Given the description of an element on the screen output the (x, y) to click on. 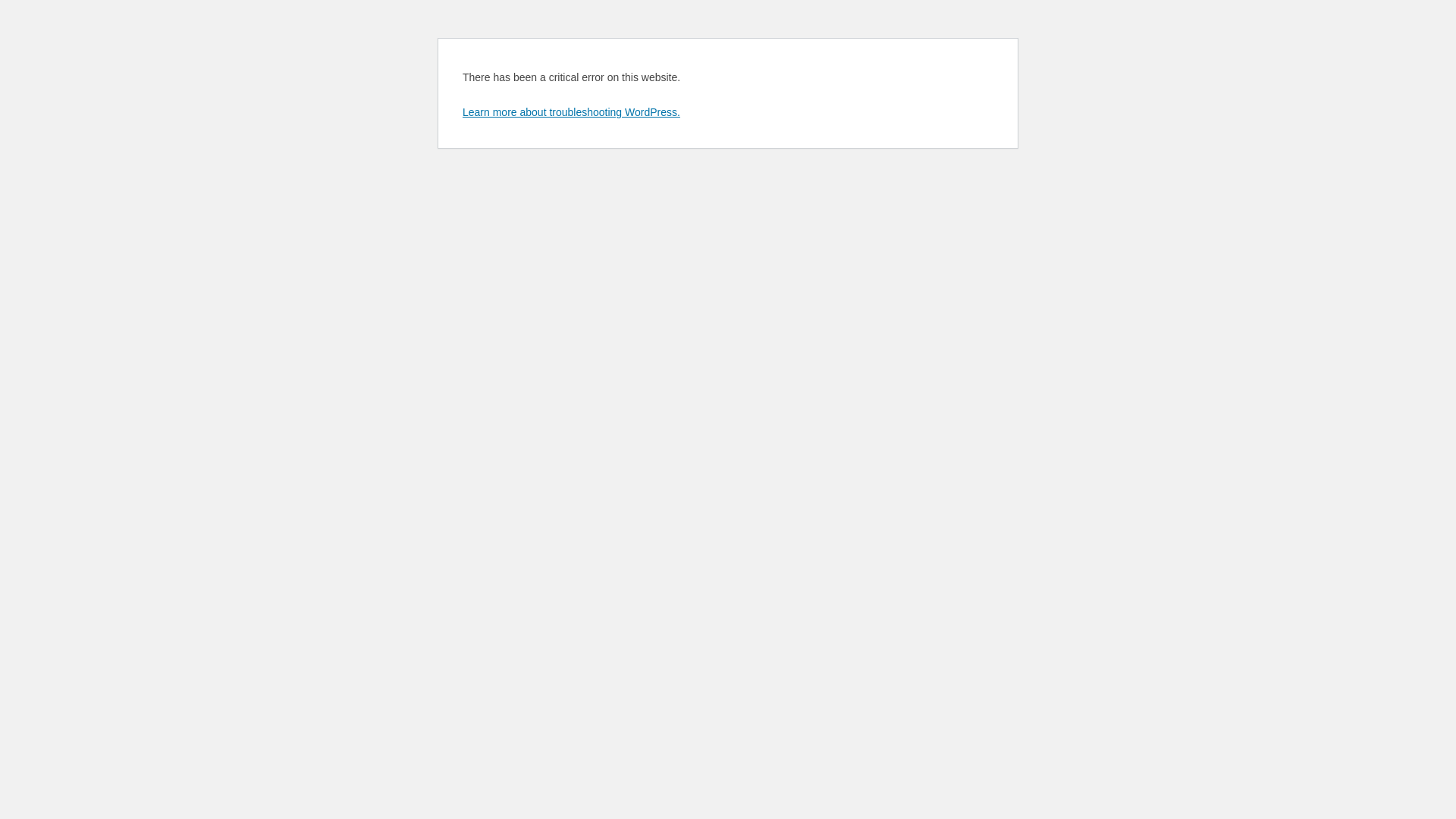
Learn more about troubleshooting WordPress. Element type: text (571, 112)
